Given the description of an element on the screen output the (x, y) to click on. 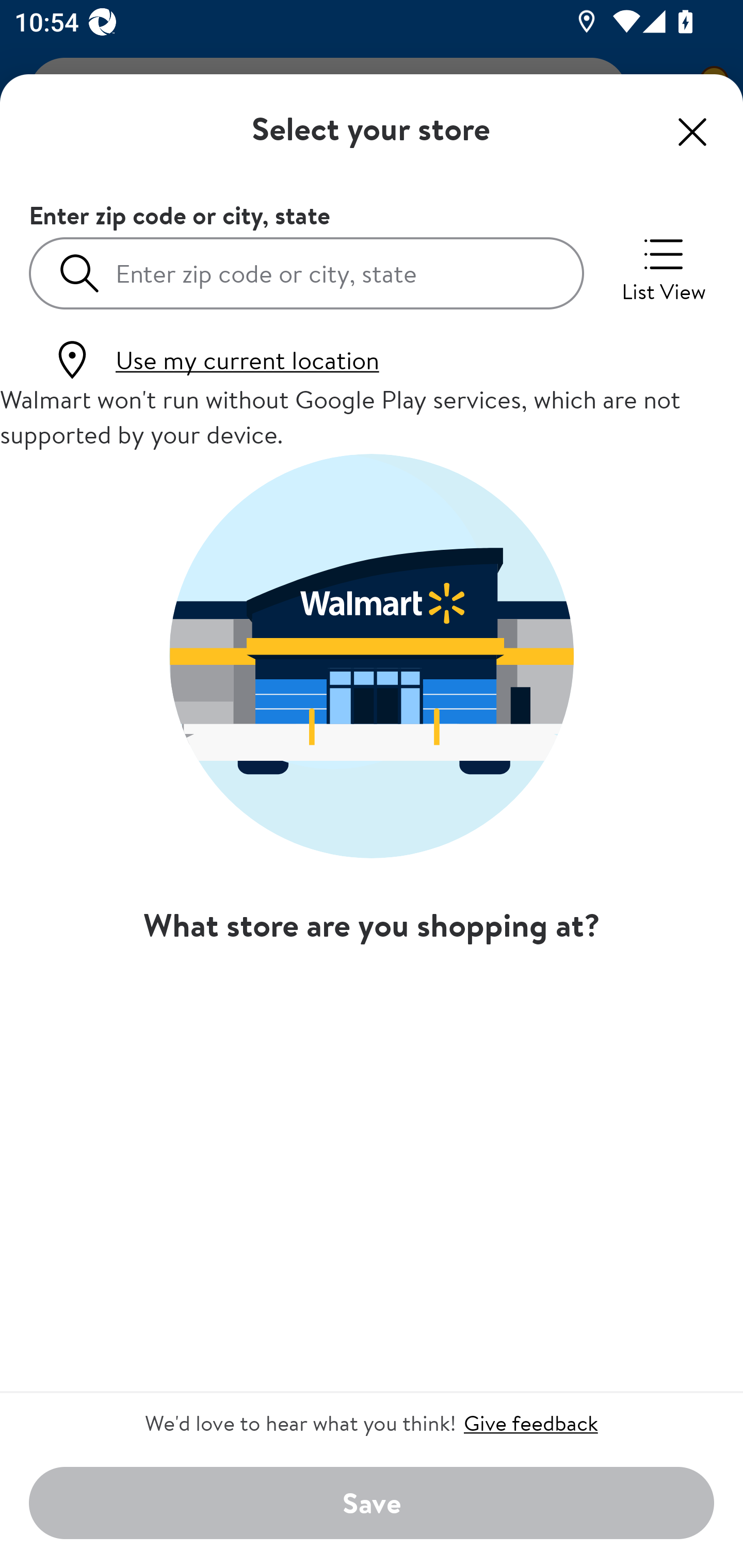
Close (692, 131)
List View Switch to list view (663, 268)
Enter zip code or city, state (305, 272)
Use my current location (214, 359)
Give feedback (530, 1422)
Save (371, 1503)
